Given the description of an element on the screen output the (x, y) to click on. 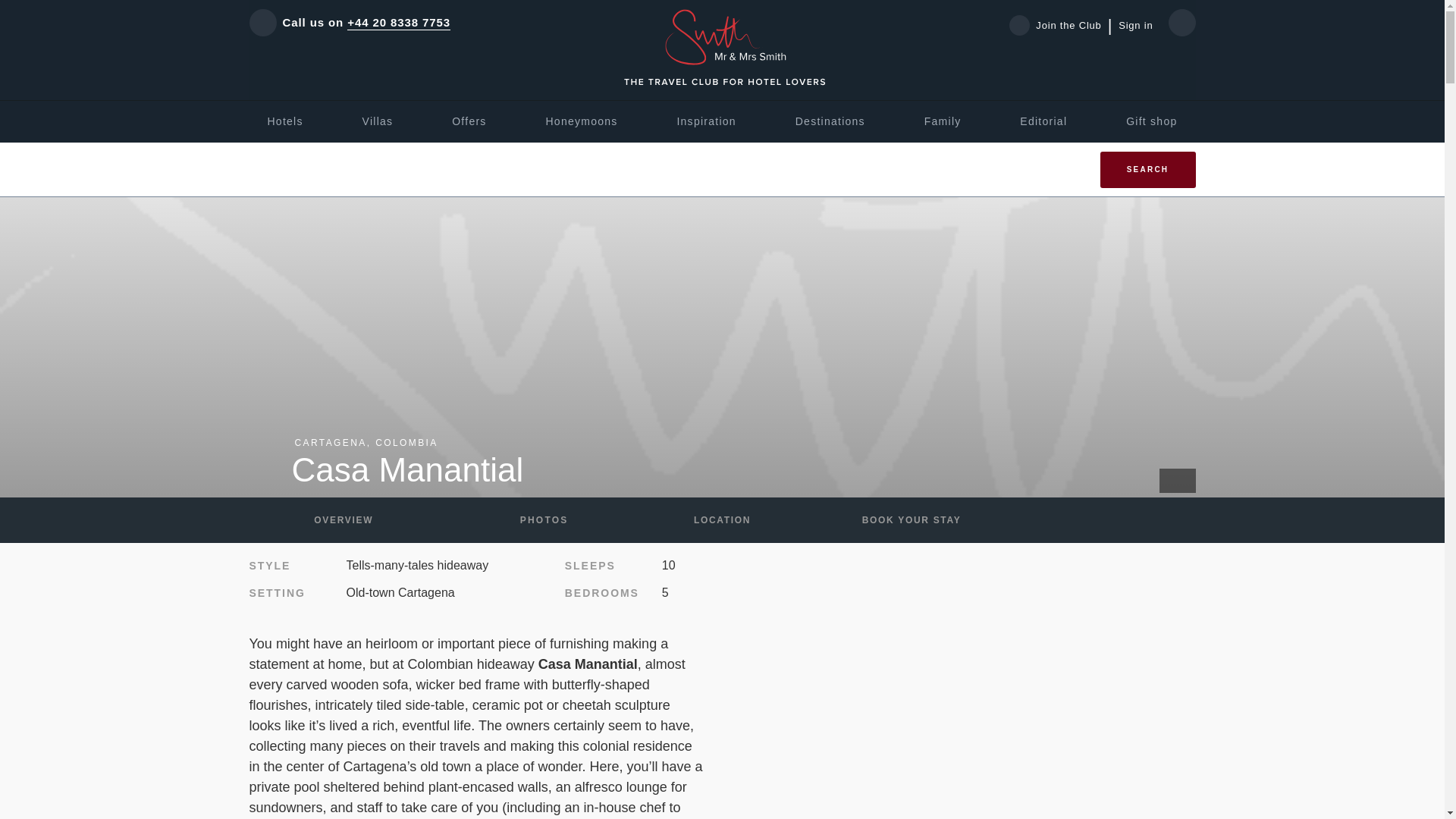
LOCATION (722, 520)
Family (942, 121)
CARTAGENA (330, 442)
BOOK YOUR STAY (910, 520)
Villas (377, 121)
OVERVIEW (343, 520)
Sign in (1135, 25)
Editorial (1043, 121)
Inspiration (706, 121)
SEARCH (1147, 169)
Destinations (829, 121)
Gift shop (1150, 121)
Hotels (284, 121)
PHOTOS (532, 520)
